Given the description of an element on the screen output the (x, y) to click on. 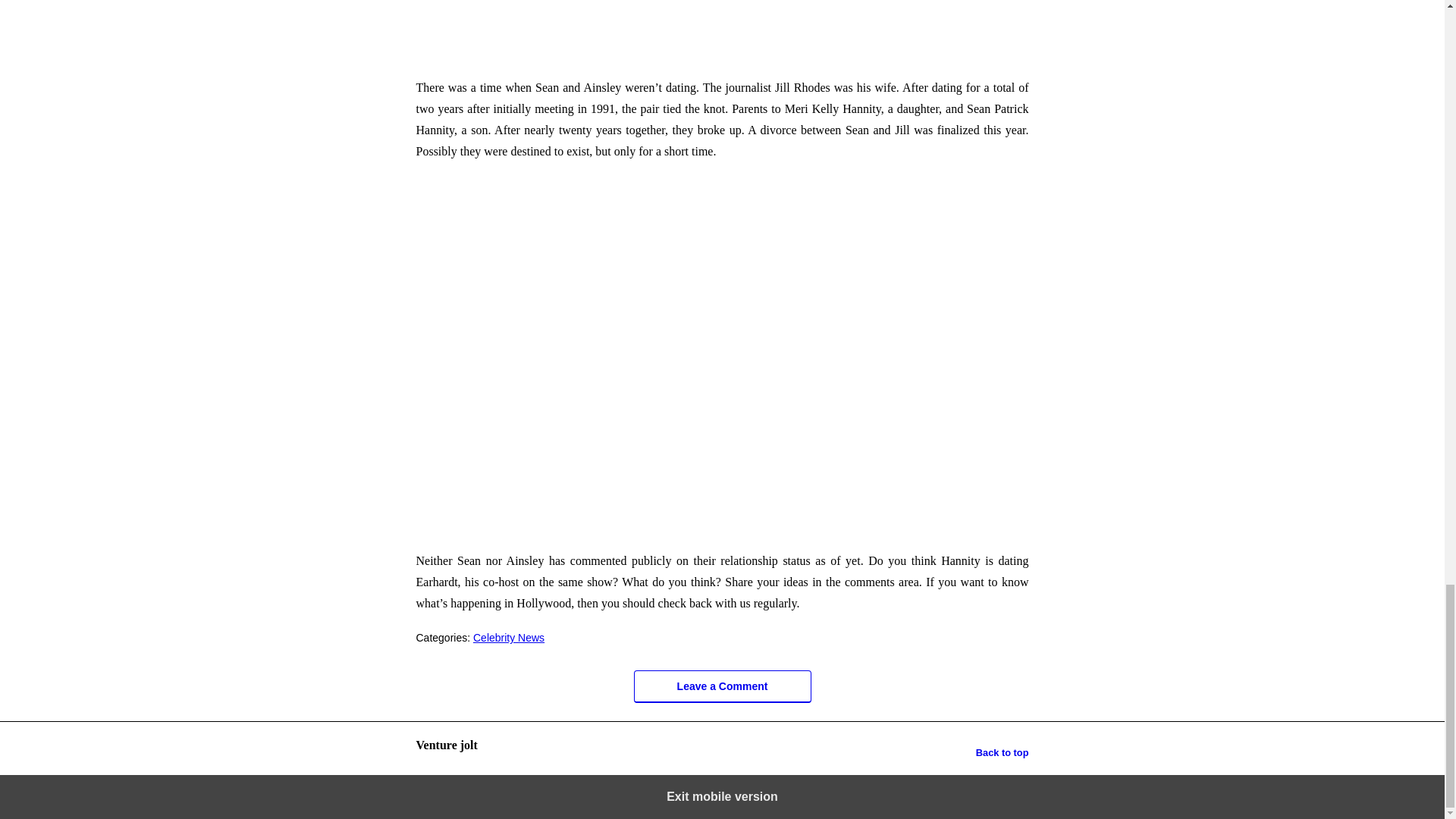
Leave a Comment (721, 686)
Celebrity News (508, 637)
Back to top (1002, 752)
3rd party ad content (720, 32)
